Given the description of an element on the screen output the (x, y) to click on. 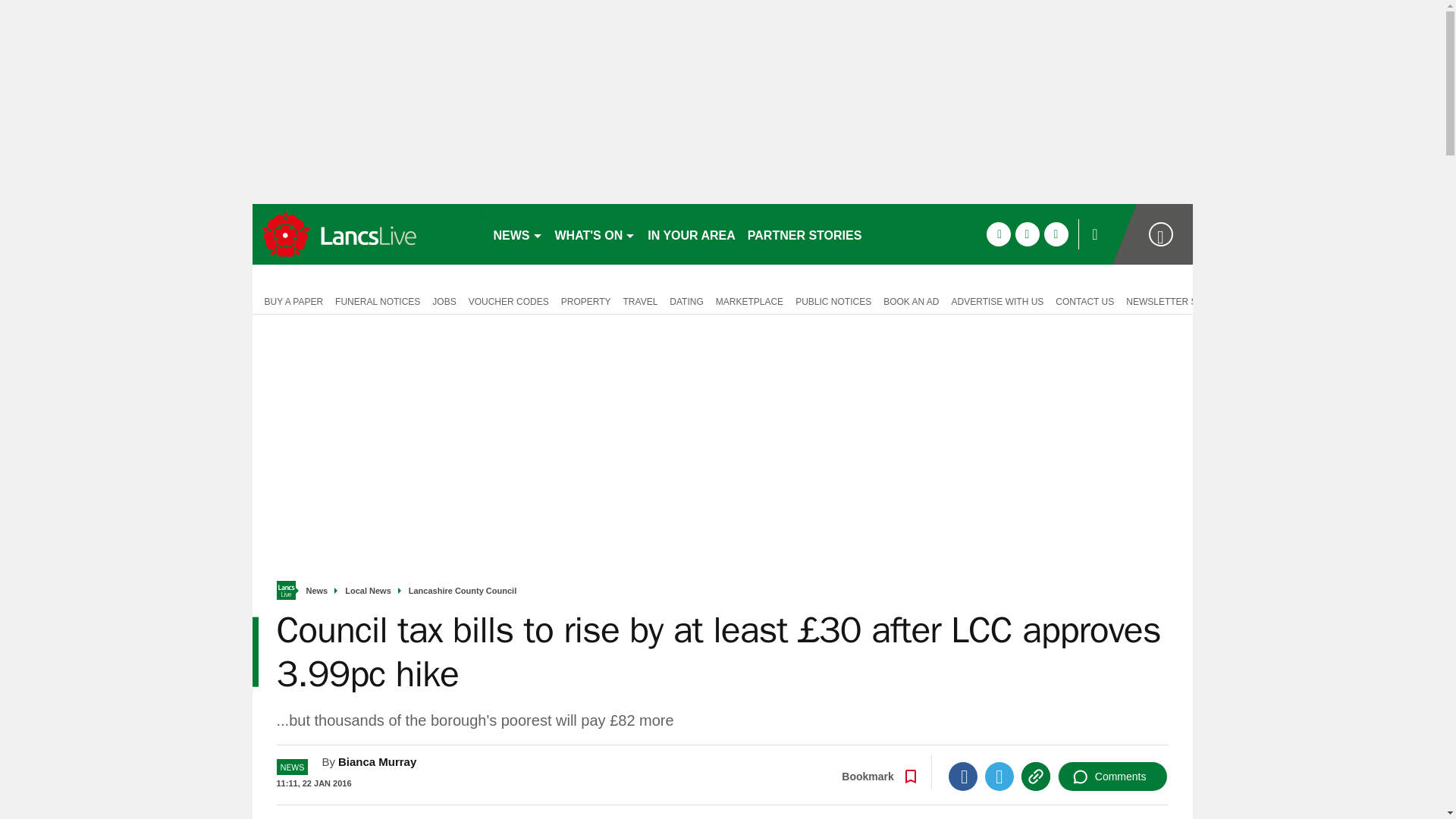
facebook (997, 233)
IN YOUR AREA (691, 233)
PROPERTY (585, 300)
Twitter (999, 776)
BOOK AN AD (910, 300)
NEWS (517, 233)
PARTNER STORIES (804, 233)
BUY A PAPER (290, 300)
Comments (1112, 776)
MARKETPLACE (749, 300)
